Given the description of an element on the screen output the (x, y) to click on. 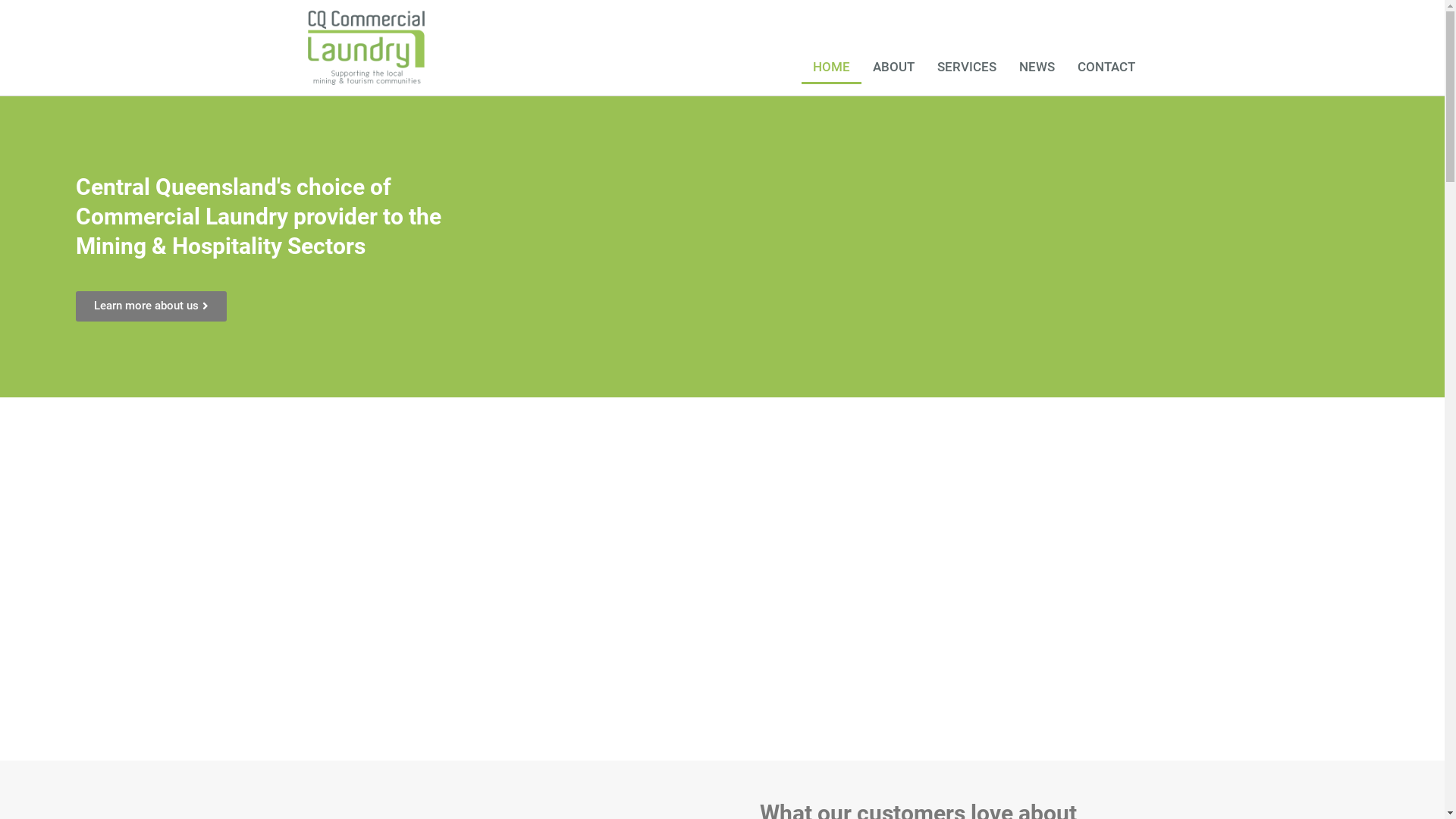
CONTACT Element type: text (1106, 66)
ABOUT Element type: text (893, 66)
Learn more about us Element type: text (150, 306)
HOME Element type: text (831, 66)
SERVICES Element type: text (966, 66)
NEWS Element type: text (1036, 66)
